Given the description of an element on the screen output the (x, y) to click on. 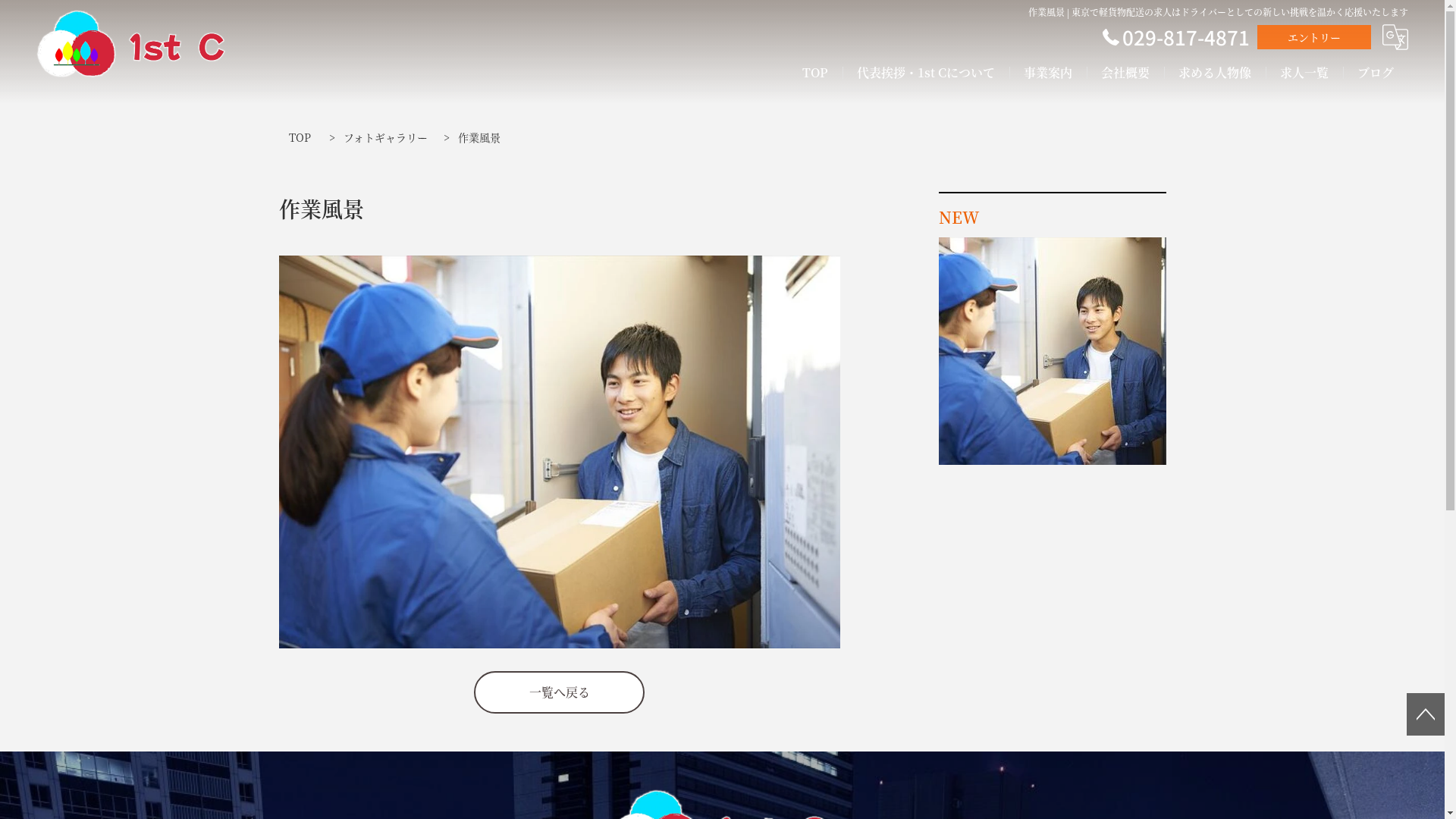
TOP Element type: text (299, 137)
TOP Element type: text (814, 72)
translate Element type: text (1395, 37)
